Given the description of an element on the screen output the (x, y) to click on. 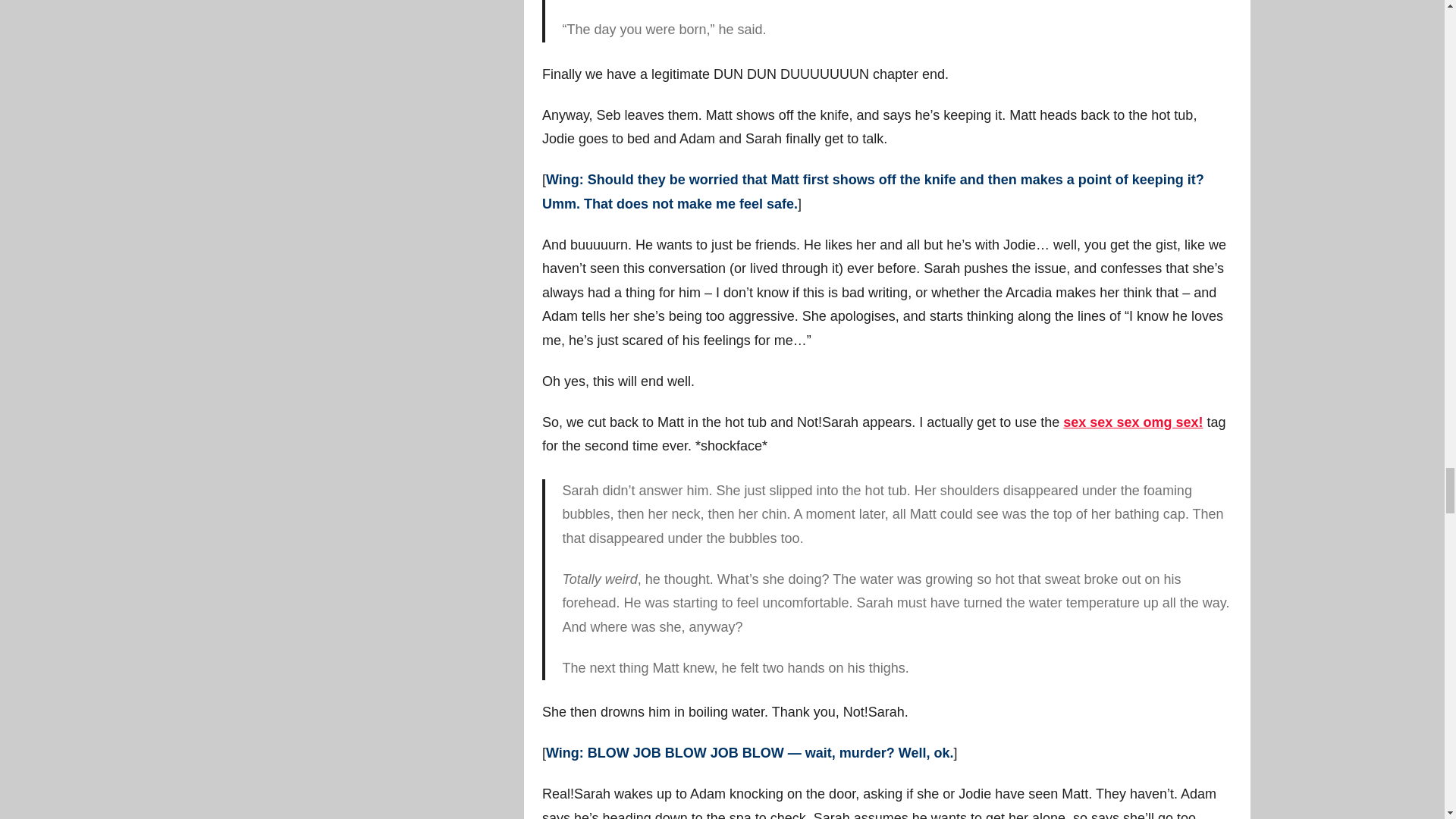
sex sex sex omg sex! (1132, 421)
